Given the description of an element on the screen output the (x, y) to click on. 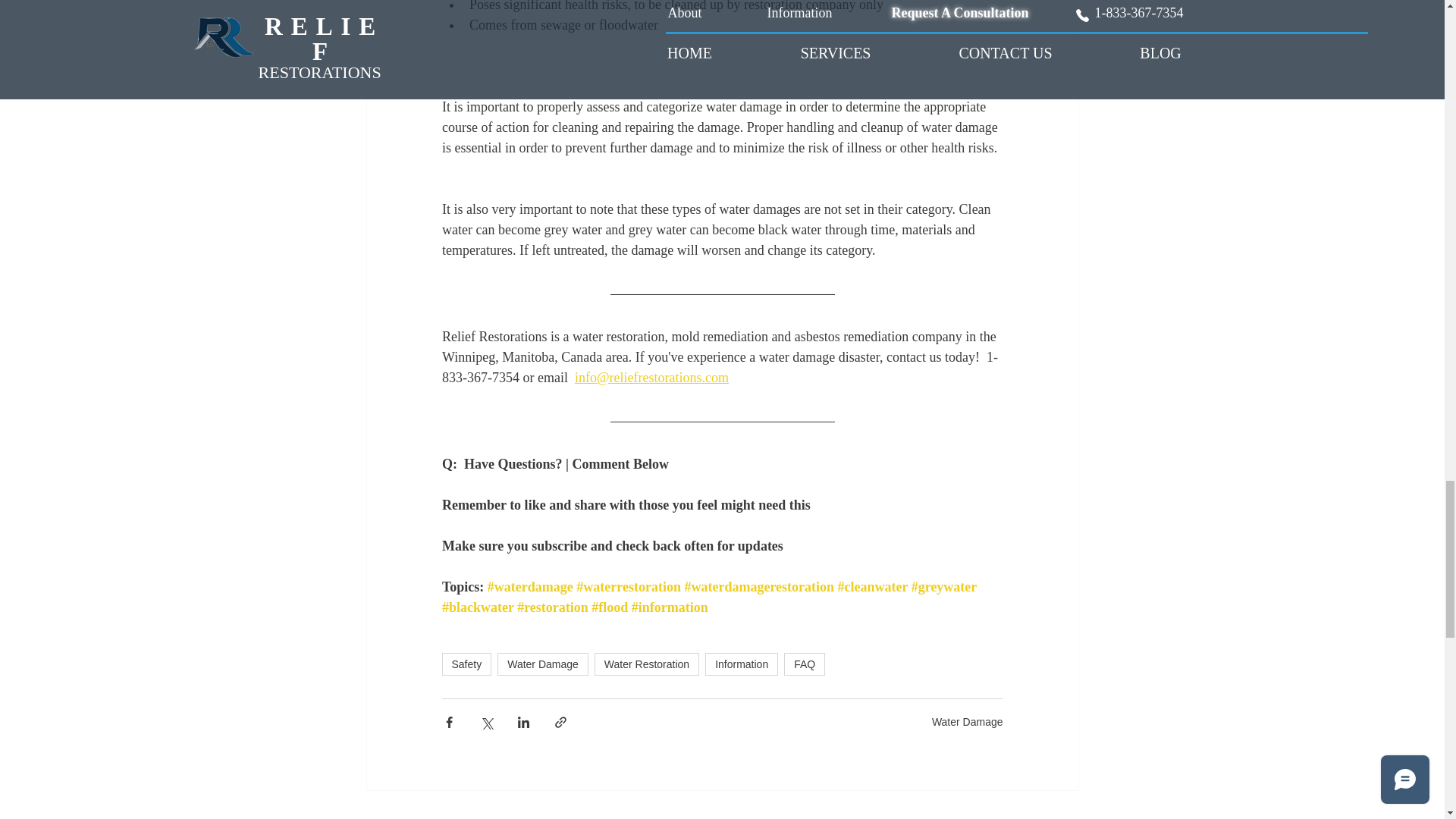
FAQ (804, 663)
Safety (466, 663)
Water Restoration (646, 663)
Information (740, 663)
Water Damage (542, 663)
